Given the description of an element on the screen output the (x, y) to click on. 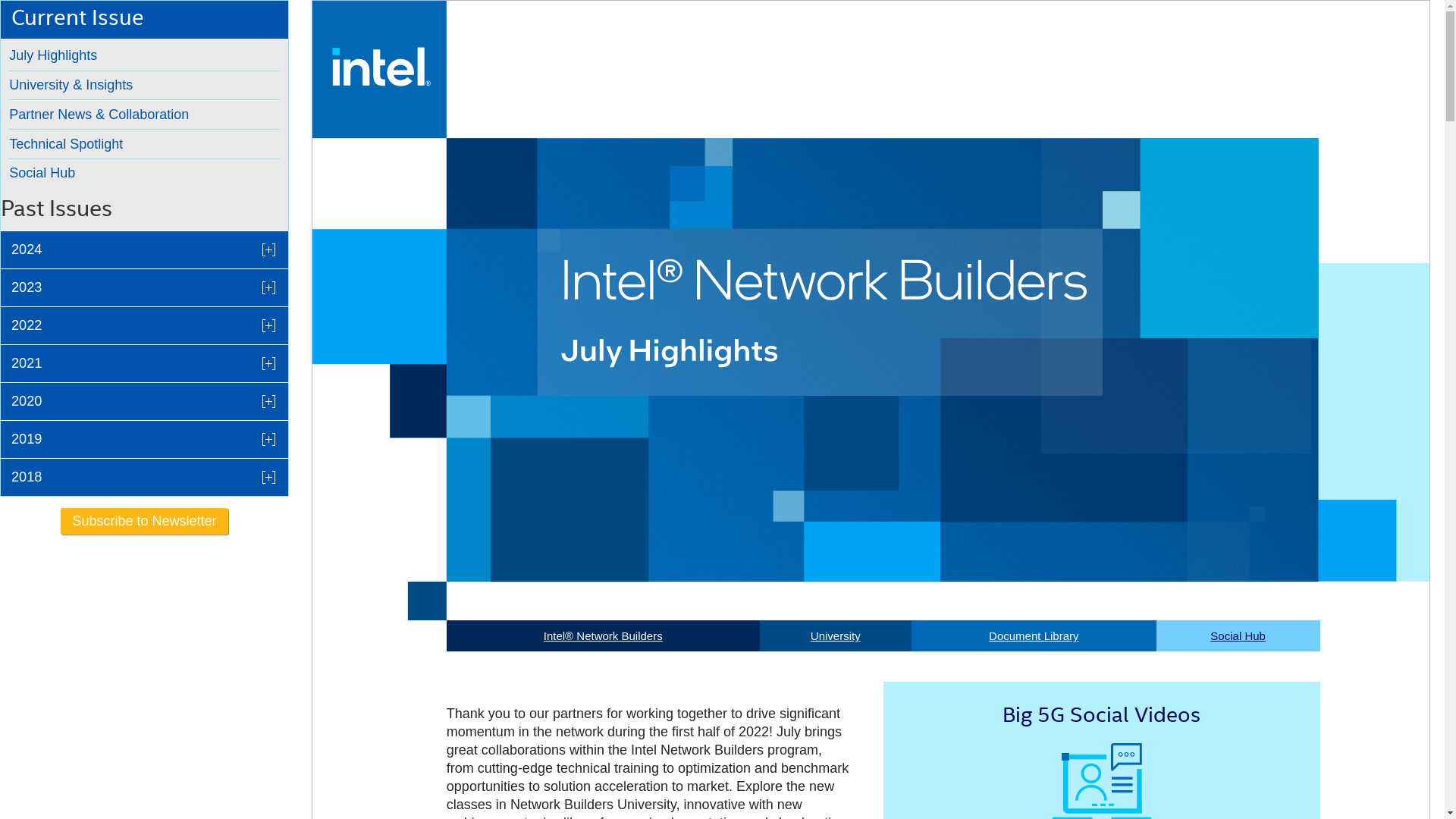
2022 (144, 325)
July Highlights (143, 55)
Technical Spotlight (143, 144)
Social Hub (143, 172)
2021 (144, 363)
July Highlights (143, 55)
2023 (144, 287)
Technical Spotlight (143, 144)
2024 (144, 249)
Social Hub (143, 172)
